Given the description of an element on the screen output the (x, y) to click on. 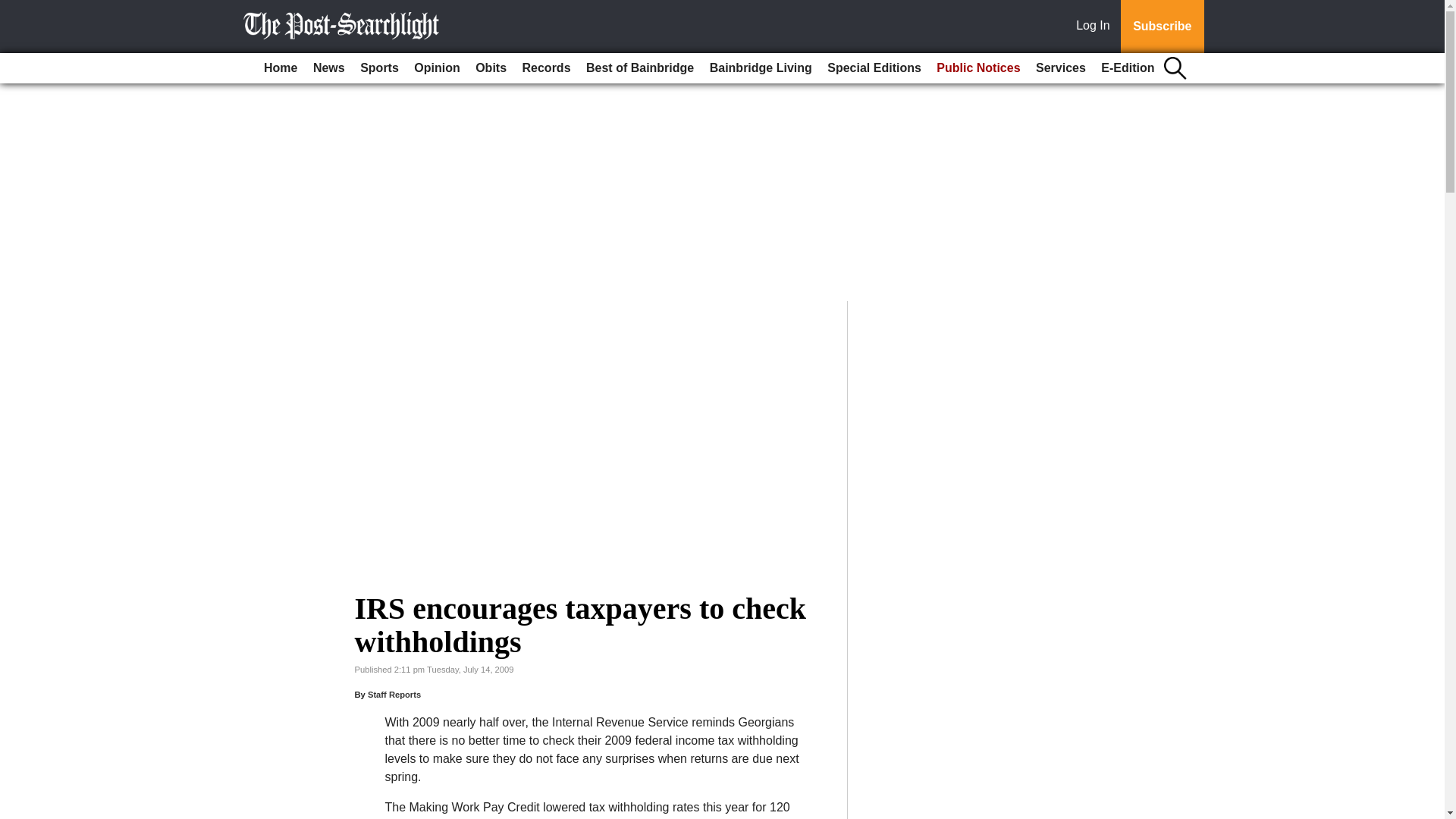
Services (1060, 68)
Opinion (436, 68)
Public Notices (978, 68)
Staff Reports (394, 694)
Sports (378, 68)
Special Editions (874, 68)
Home (279, 68)
Log In (1095, 26)
Go (13, 9)
Records (546, 68)
News (328, 68)
Obits (490, 68)
Bainbridge Living (760, 68)
E-Edition (1127, 68)
Best of Bainbridge (639, 68)
